Given the description of an element on the screen output the (x, y) to click on. 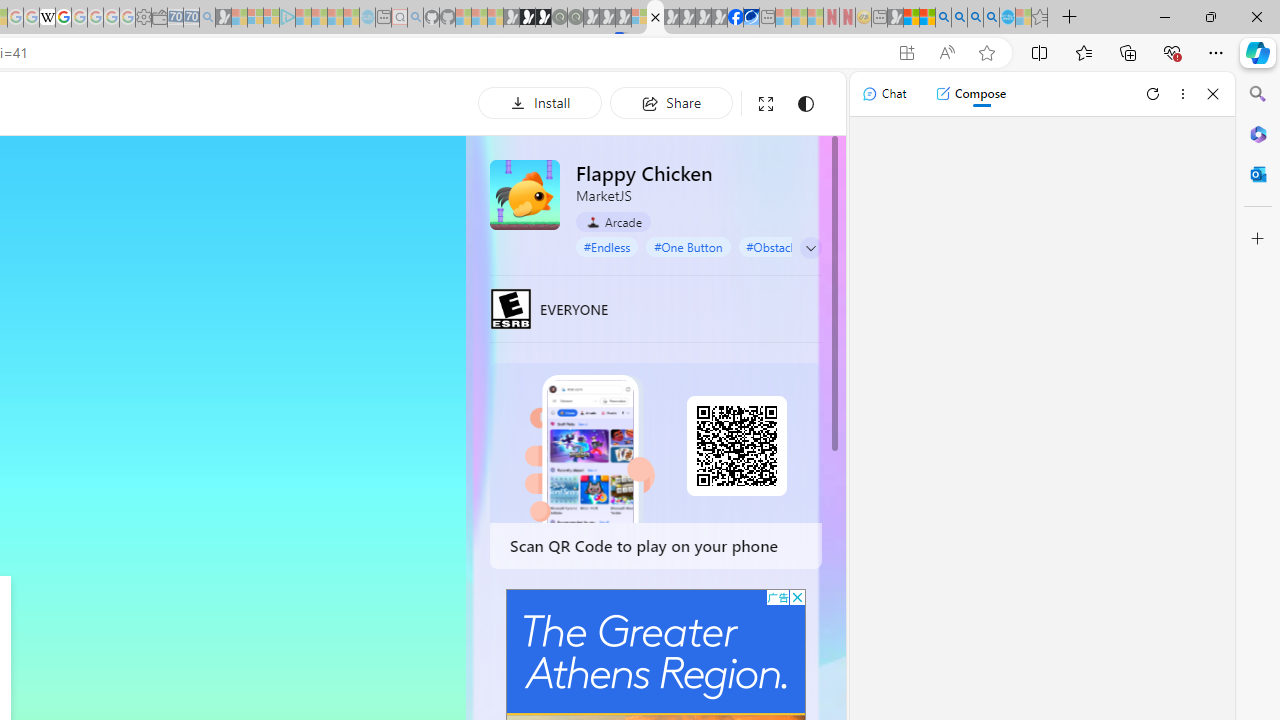
#Obstacle Course (792, 246)
Nordace | Facebook (735, 17)
#Endless (607, 246)
Future Focus Report 2024 - Sleeping (575, 17)
MSN - Sleeping (895, 17)
2009 Bing officially replaced Live Search on June 3 - Search (959, 17)
